Given the description of an element on the screen output the (x, y) to click on. 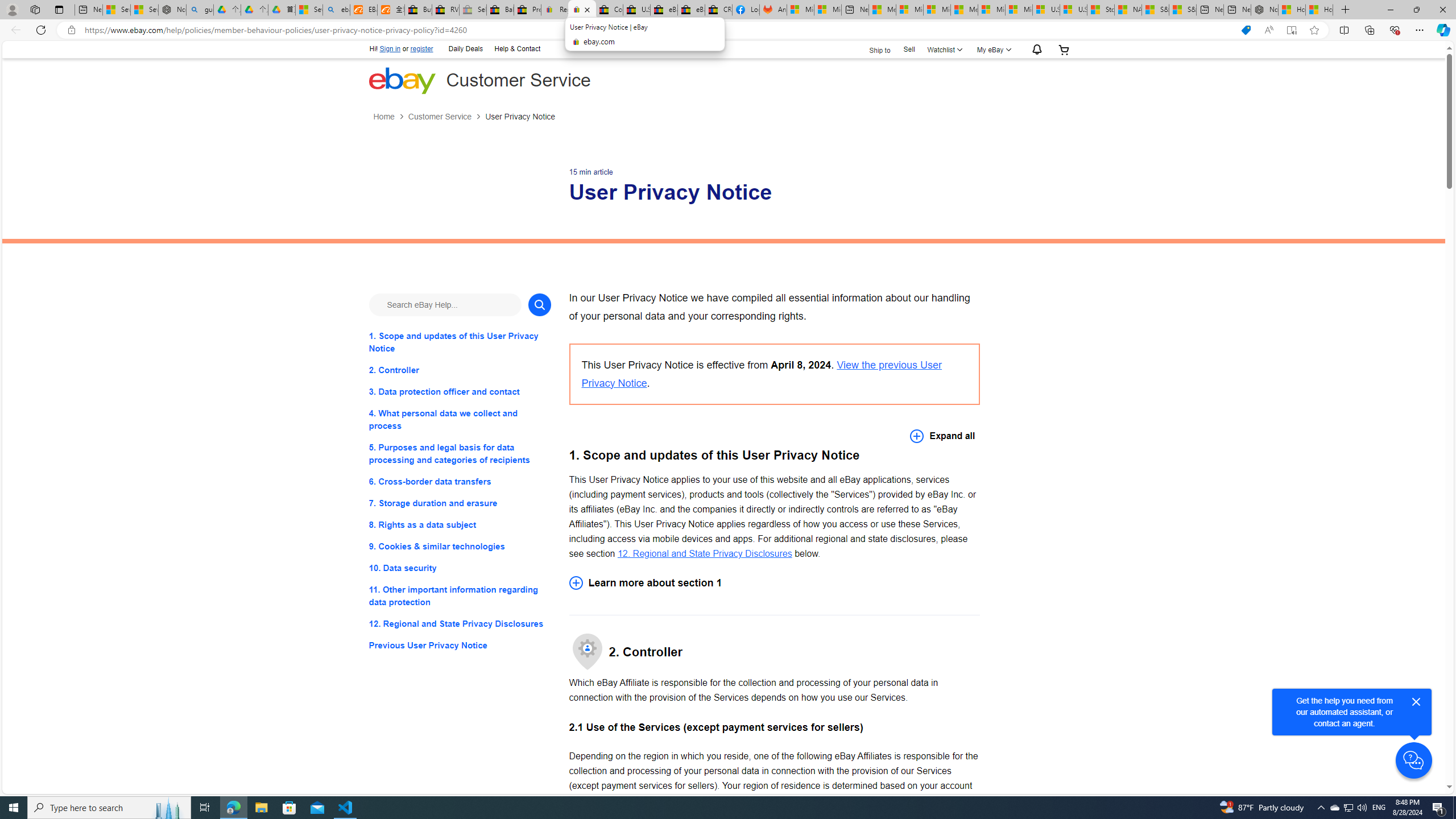
Register: Create a personal eBay account (554, 9)
Sell (909, 49)
WatchlistExpand Watch List (943, 49)
Customer Service (439, 117)
10. Data security (459, 567)
Sell worldwide with eBay - Sleeping (473, 9)
7. Storage duration and erasure (459, 503)
Daily Deals (465, 49)
Microsoft account | Home (936, 9)
This site has coupons! Shopping in Microsoft Edge (1245, 29)
